Given the description of an element on the screen output the (x, y) to click on. 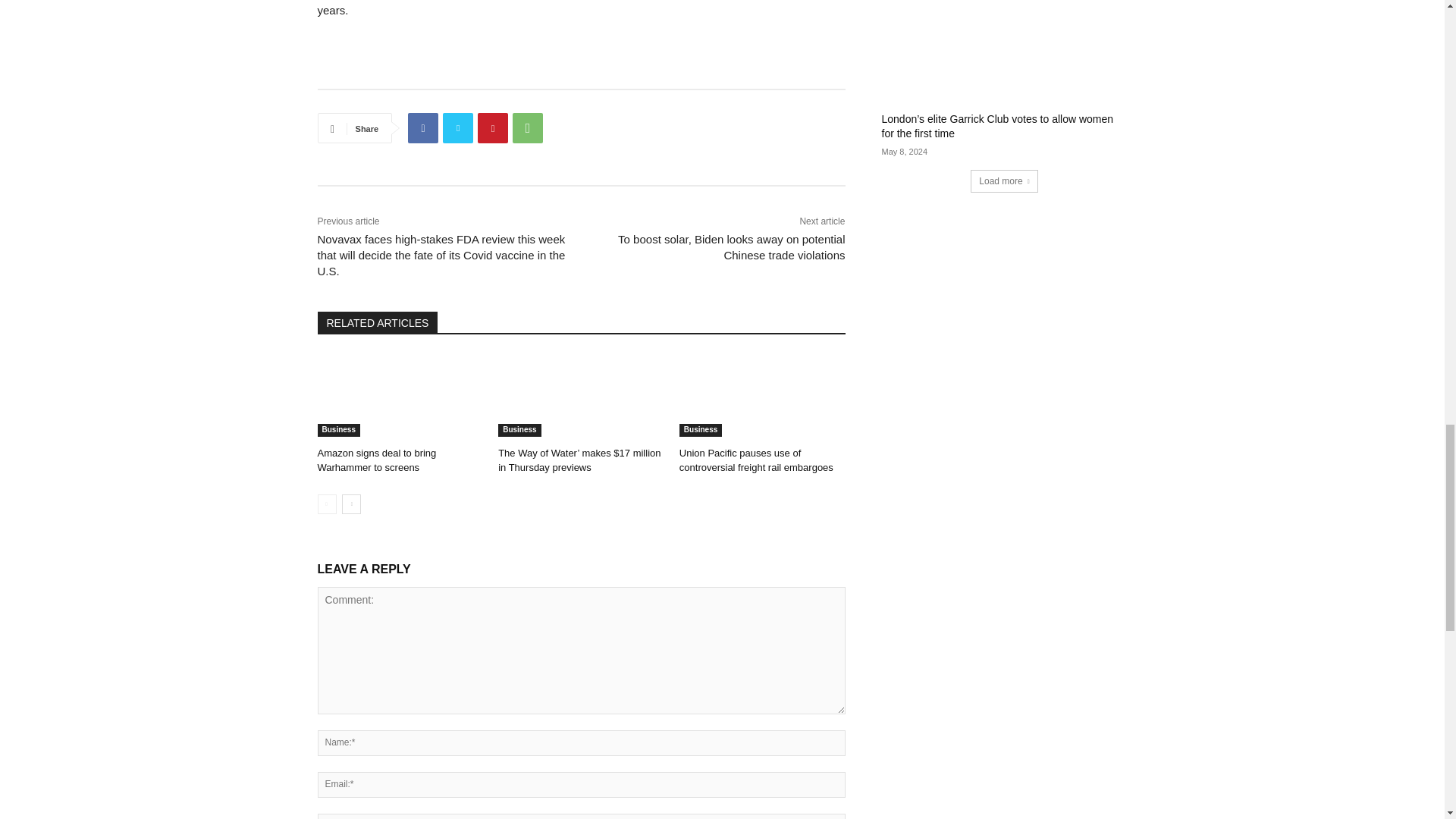
Twitter (457, 128)
Facebook (422, 128)
Pinterest (492, 128)
